Given the description of an element on the screen output the (x, y) to click on. 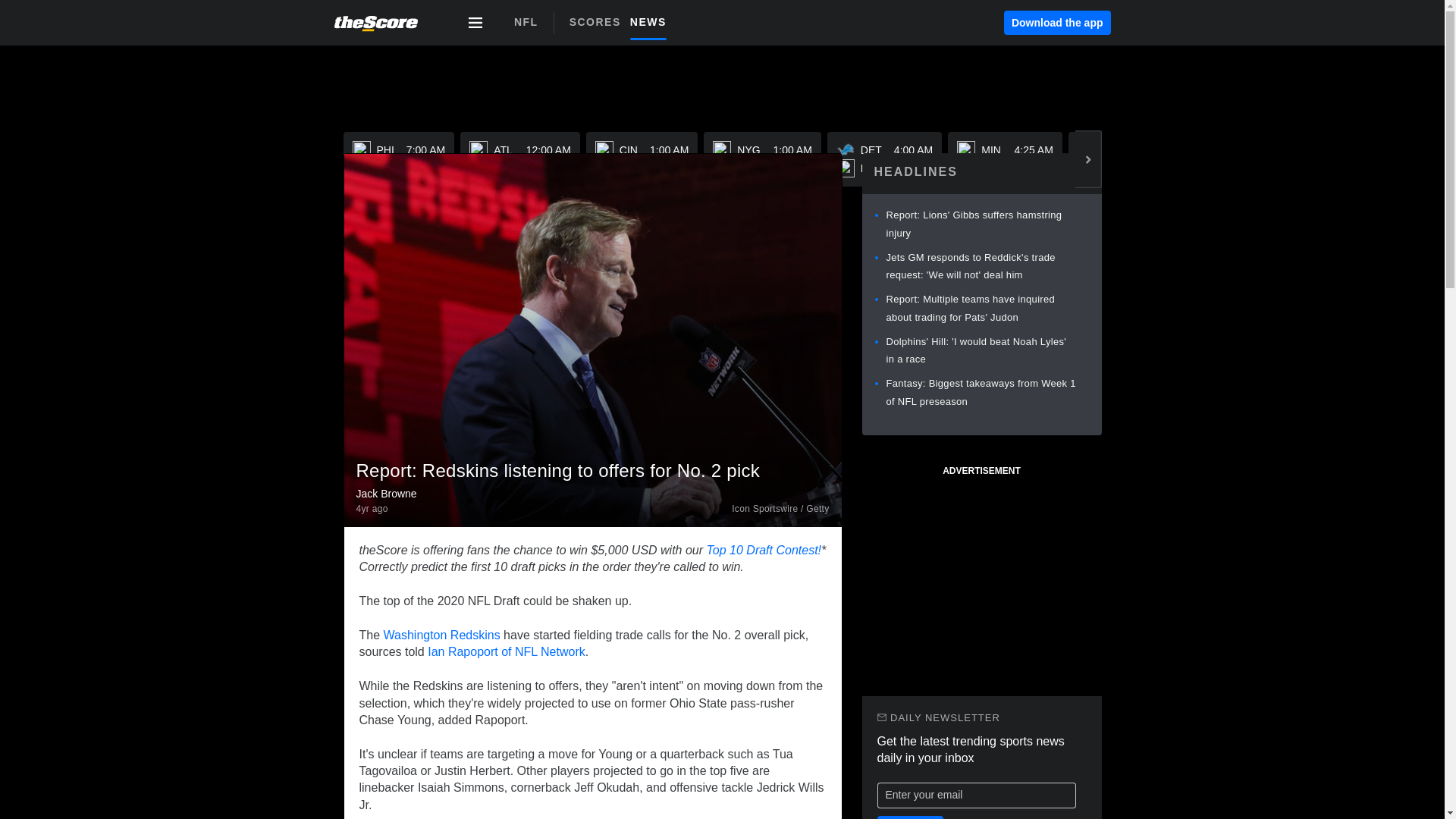
SCORES (599, 21)
NEWS (1371, 158)
Fantasy: Biggest takeaways from Week 1 of NFL preseason (1004, 158)
Report: Lions' Gibbs suffers hamstring injury (652, 21)
Subscribe (980, 392)
